Given the description of an element on the screen output the (x, y) to click on. 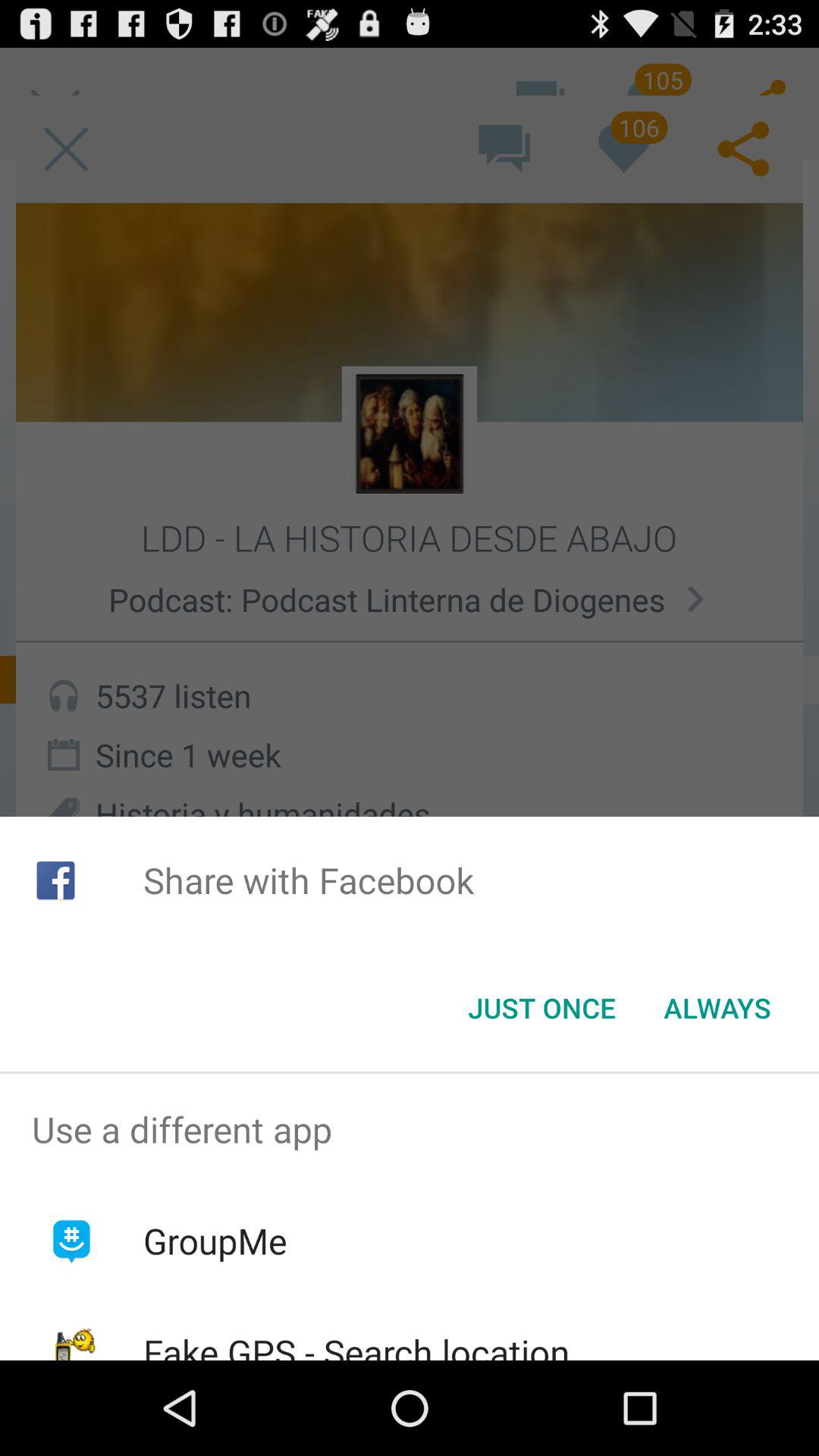
select the item at the bottom right corner (717, 1007)
